Given the description of an element on the screen output the (x, y) to click on. 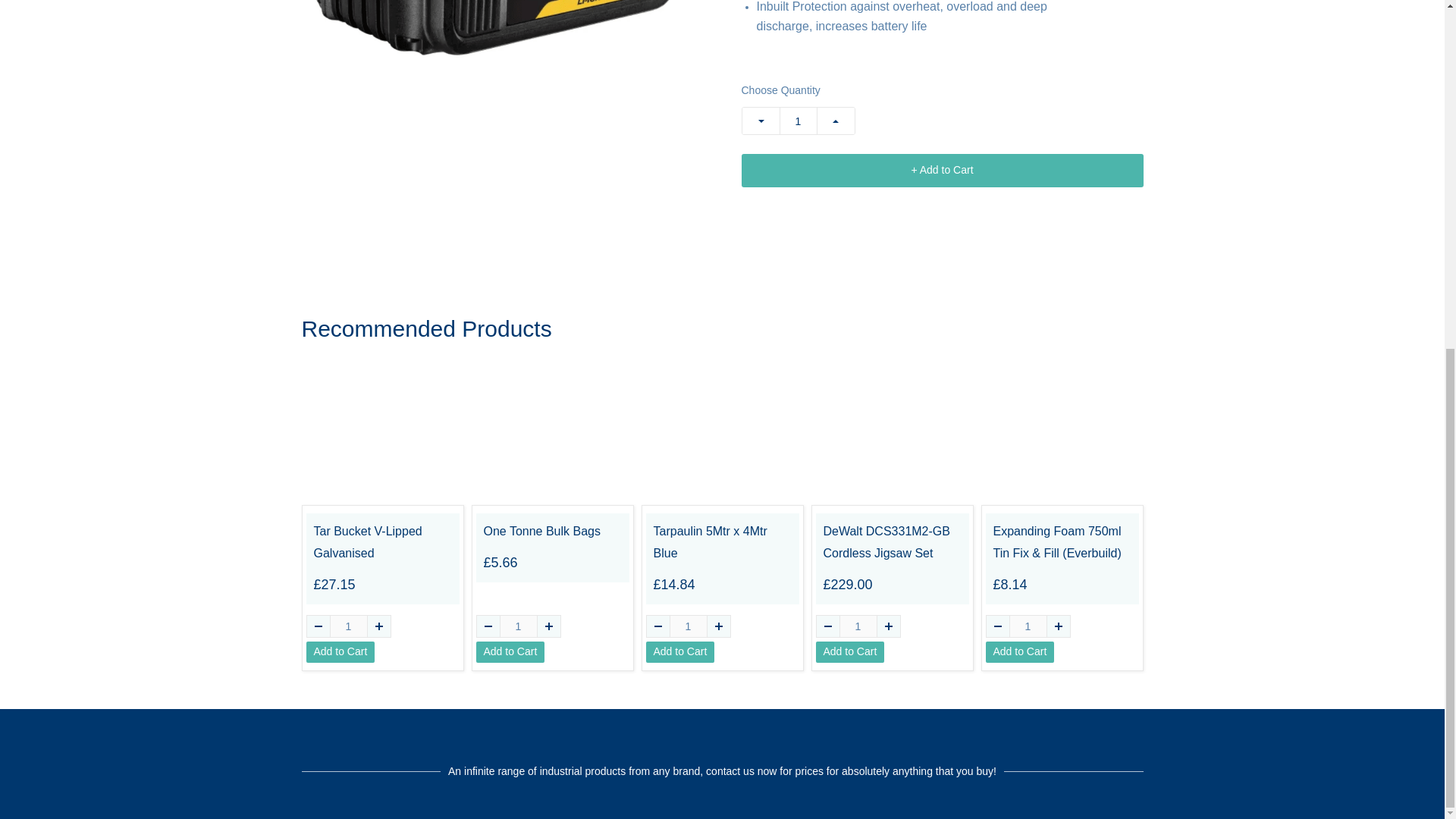
1 (797, 120)
quantity (797, 120)
quantity (687, 626)
1 (347, 626)
1 (518, 626)
1 (1027, 626)
quantity (857, 626)
Tar Bucket V-Lipped Galvanised (382, 542)
quantity (518, 626)
DeWalt DCS331M2-GB Cordless Jigsaw Set (892, 542)
